Given the description of an element on the screen output the (x, y) to click on. 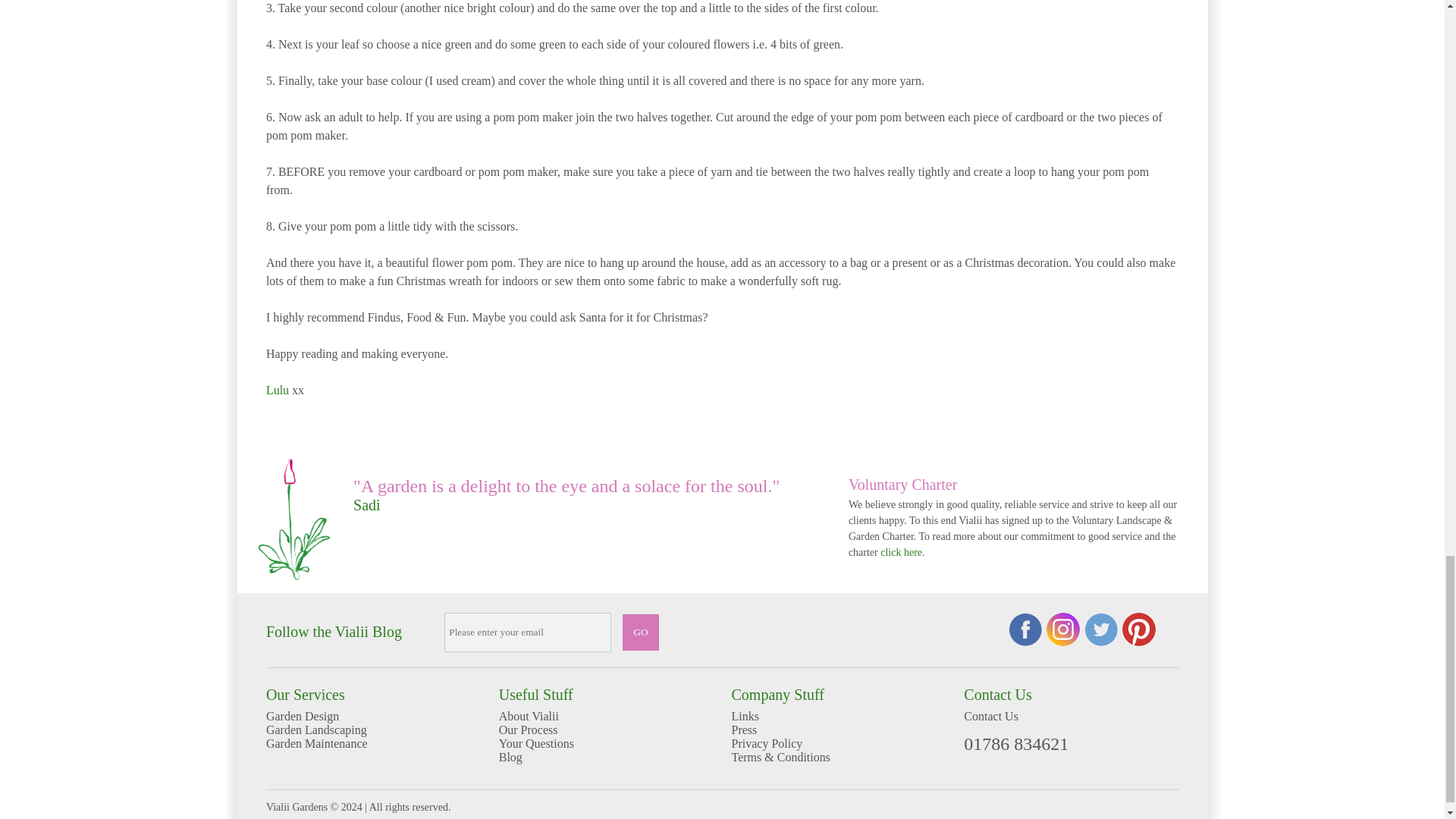
GO (641, 632)
Garden Landscaping (373, 730)
GO (641, 632)
Press (839, 730)
Our Process (606, 730)
click here (900, 552)
Your Questions (606, 744)
Privacy Policy (839, 744)
Garden Design (373, 716)
Blog (606, 757)
Links (839, 716)
About Vialii (606, 716)
Lulu (277, 390)
Garden Maintenance (373, 744)
